Given the description of an element on the screen output the (x, y) to click on. 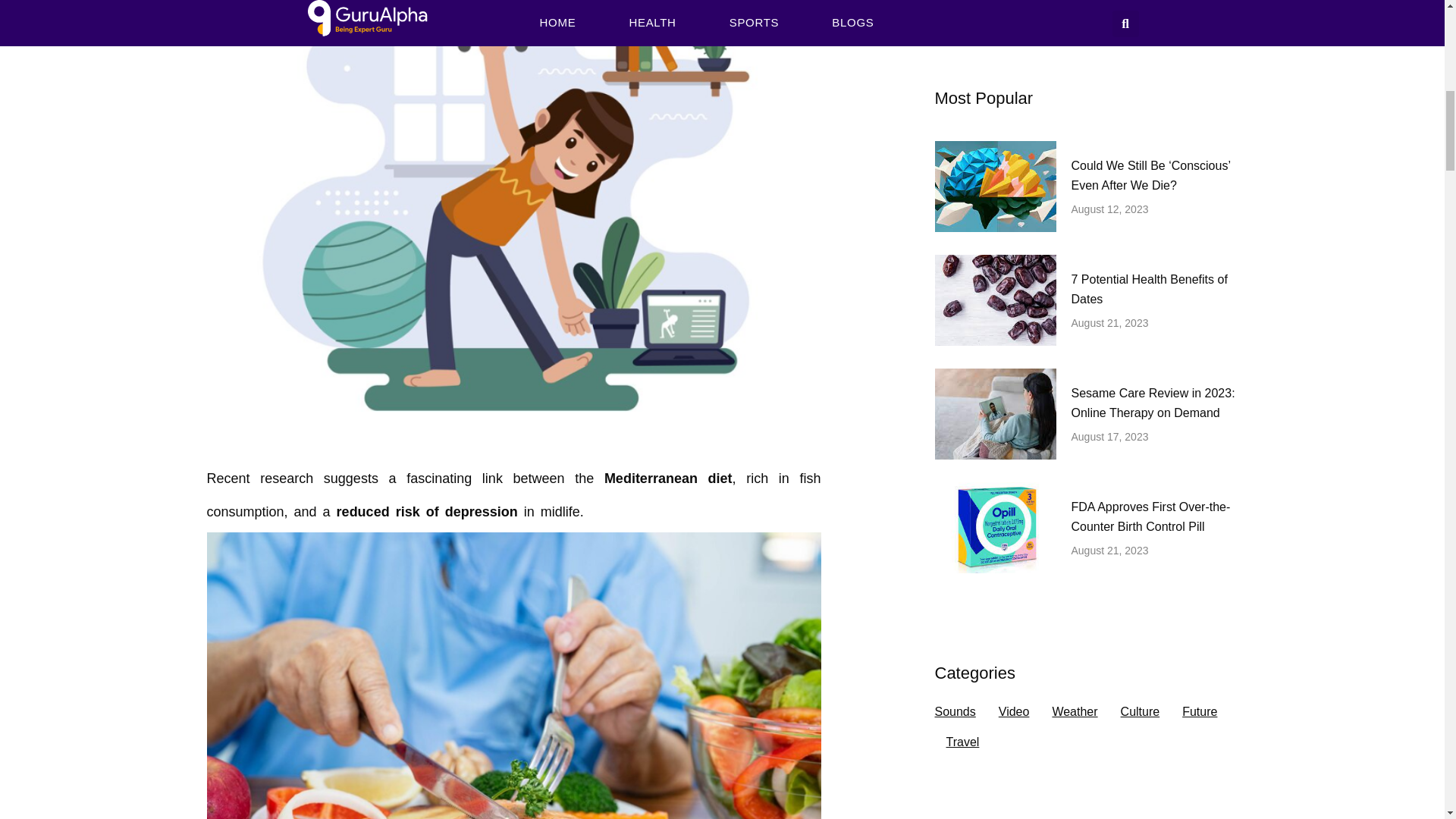
7 Potential Health Benefits of Dates (1148, 288)
Travel (962, 742)
Culture (1140, 711)
Future (1199, 711)
FDA Approves First Over-the-Counter Birth Control Pill (1150, 516)
Video (1013, 711)
Weather (1074, 711)
Sesame Care Review in 2023: Online Therapy on Demand (1152, 402)
Sounds (954, 711)
